Given the description of an element on the screen output the (x, y) to click on. 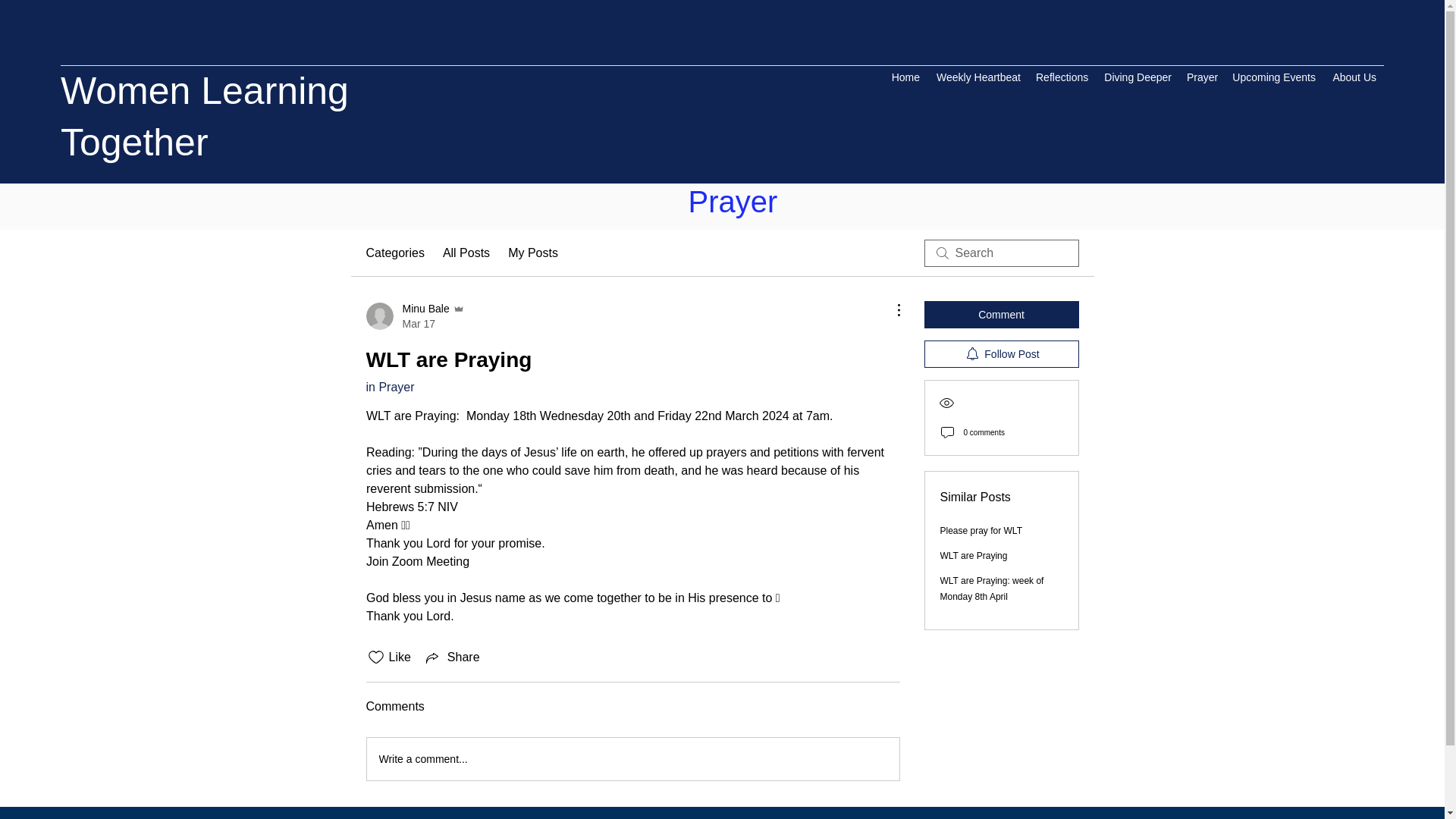
Women Learning Together (734, 815)
WLT are Praying: week of Monday 8th April (991, 588)
Reflections (1060, 77)
in Prayer (389, 386)
Weekly Heartbeat (977, 77)
About Us (1353, 77)
Diving Deeper (1136, 77)
My Posts (532, 253)
Prayer (1201, 77)
Women Learning Together (205, 116)
